Given the description of an element on the screen output the (x, y) to click on. 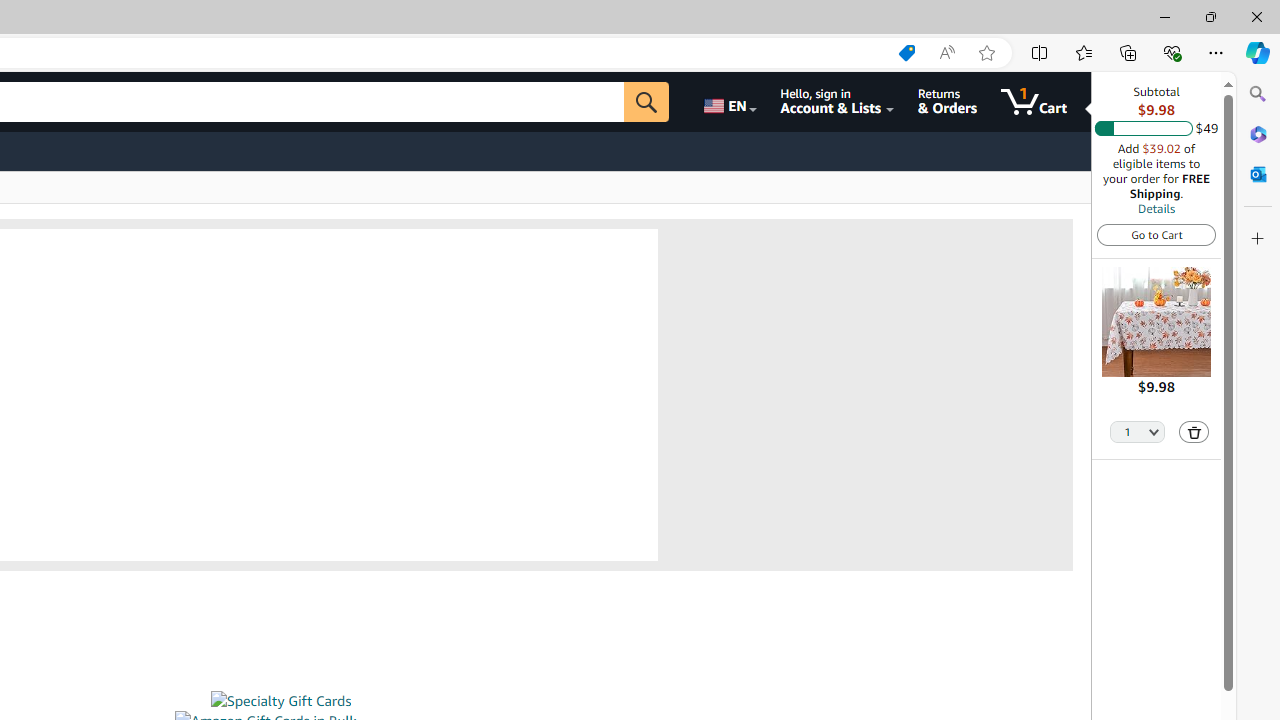
Outlook (1258, 174)
Quantity Selector (1137, 430)
Shopping in Microsoft Edge (906, 53)
Specialty Gift Cards (280, 701)
Delete (1194, 431)
